Given the description of an element on the screen output the (x, y) to click on. 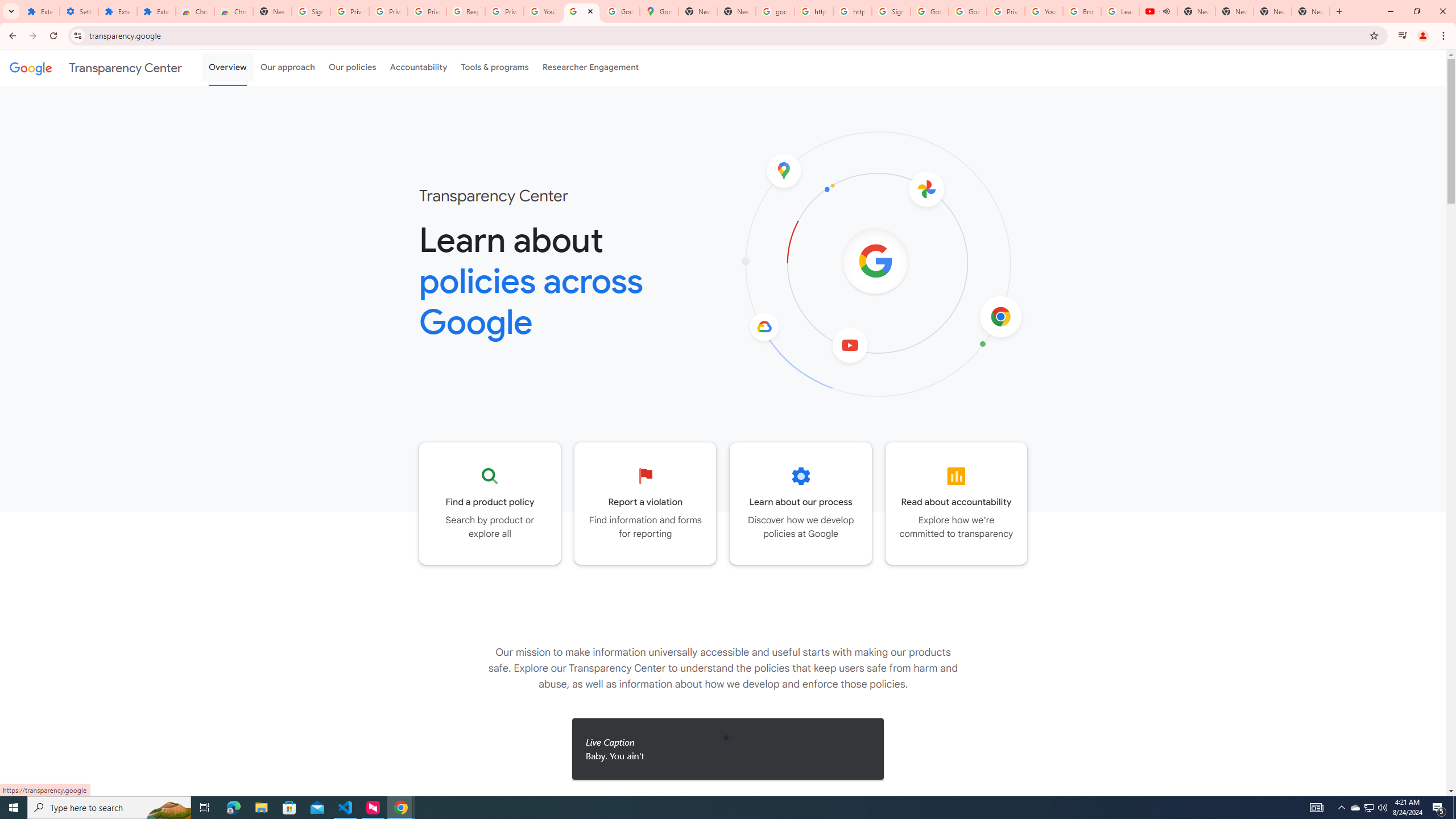
https://scholar.google.com/ (852, 11)
Sign in - Google Accounts (890, 11)
https://scholar.google.com/ (813, 11)
Our policies (351, 67)
Go to the Accountability page (956, 503)
Settings (79, 11)
Researcher Engagement (590, 67)
Our approach (287, 67)
